Given the description of an element on the screen output the (x, y) to click on. 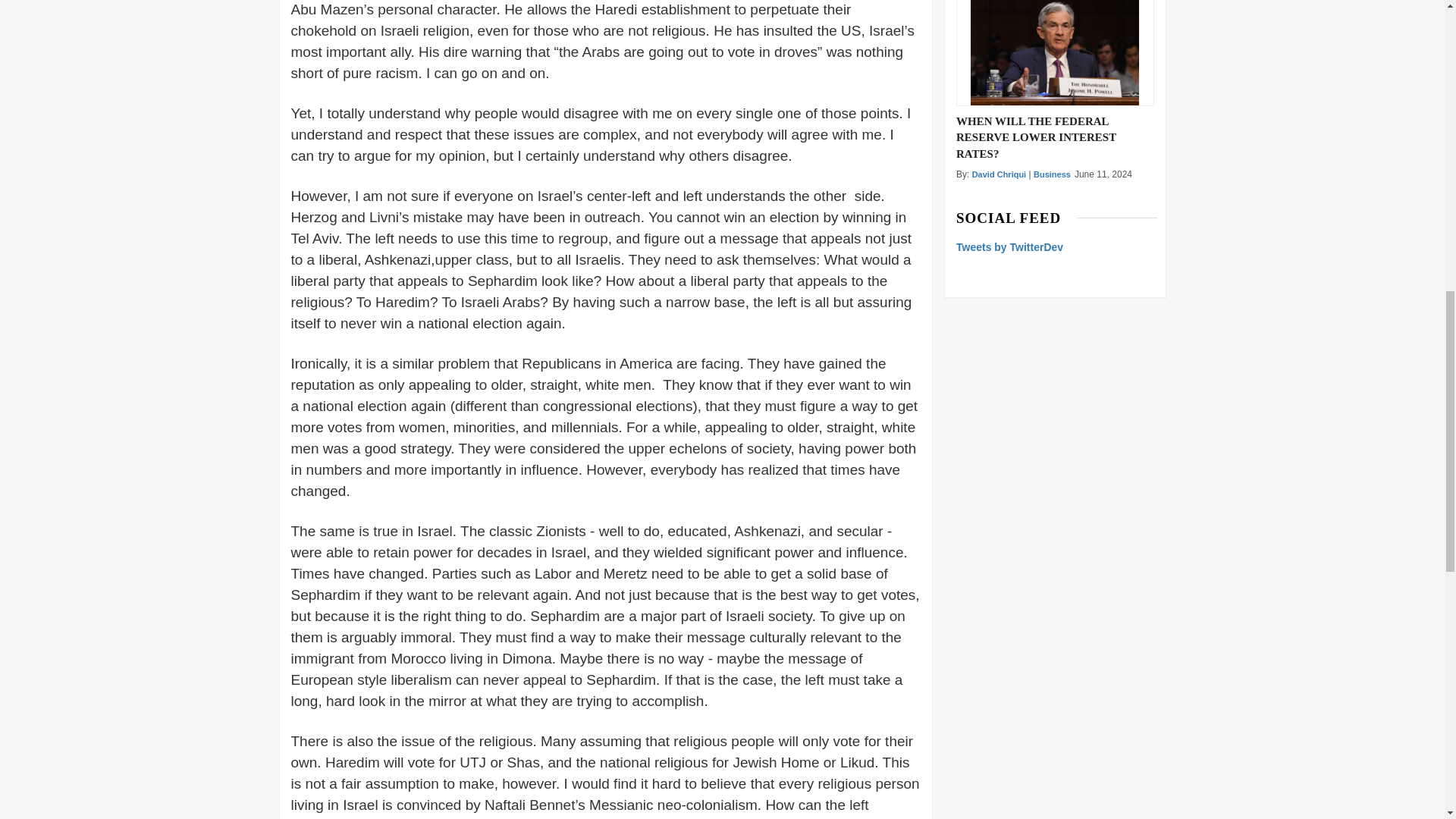
Business (1051, 174)
Tweets by TwitterDev (1009, 246)
WHEN WILL THE FEDERAL RESERVE LOWER INTEREST RATES? (1055, 136)
When Will The Federal Reserve Lower Interest Rates? (1054, 52)
David Chriqui (999, 174)
